Given the description of an element on the screen output the (x, y) to click on. 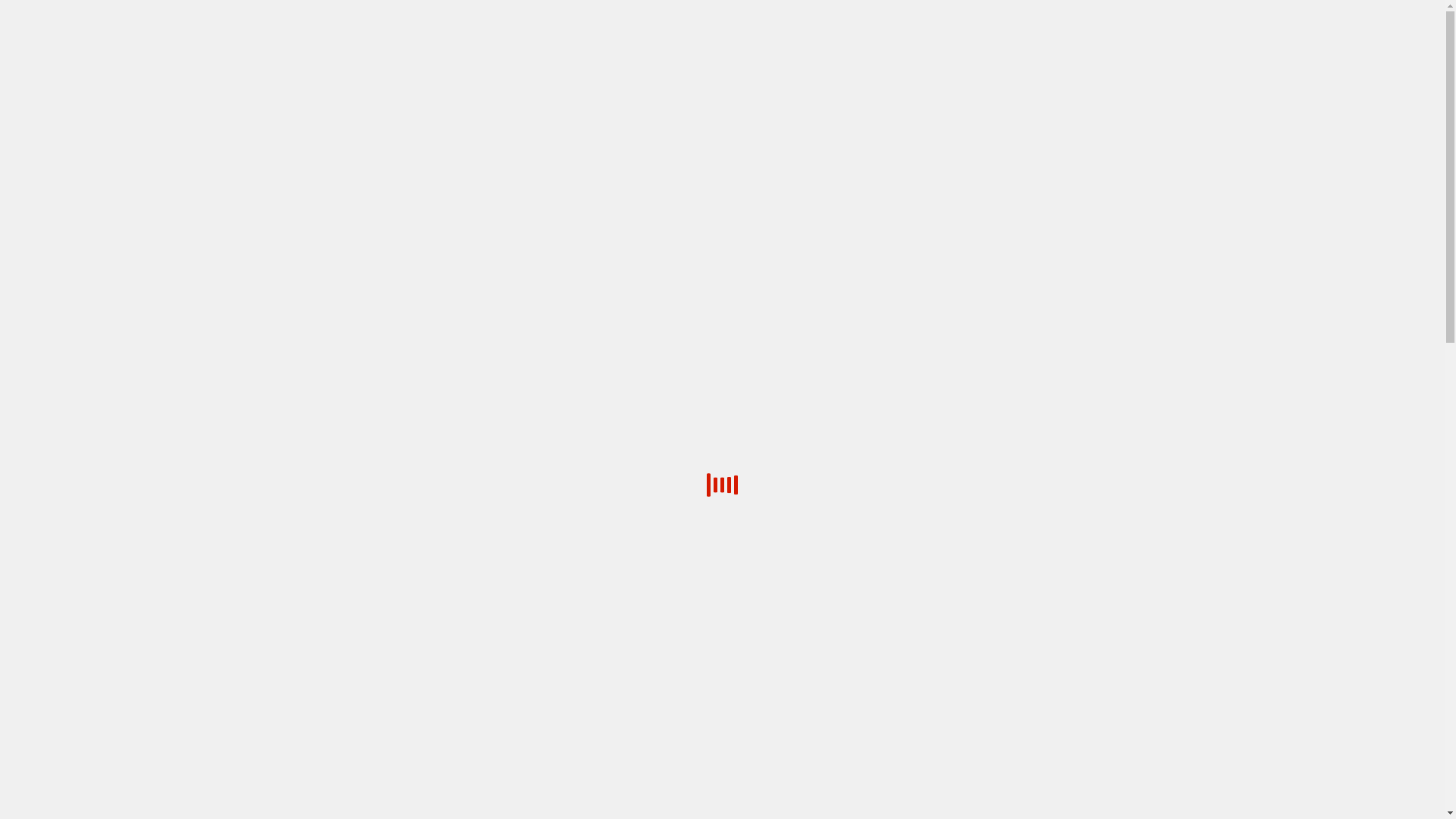
365SEG.COM Element type: text (825, 214)
658 365 365 Element type: text (1314, 168)
Nosotros Element type: text (1109, 11)
Seguros de responsabilidad civil Element type: text (1001, 11)
OTROS SEGUROS Element type: text (899, 214)
BLOG Element type: text (943, 114)
Formas de pago Element type: text (879, 11)
CIBERSEGURIDAD Element type: text (733, 114)
CONTACTO Element type: text (858, 114)
SEGUROS PERSONALES Element type: text (1000, 214)
CALCULE SU SEGURO Element type: text (572, 114)
